Given the description of an element on the screen output the (x, y) to click on. 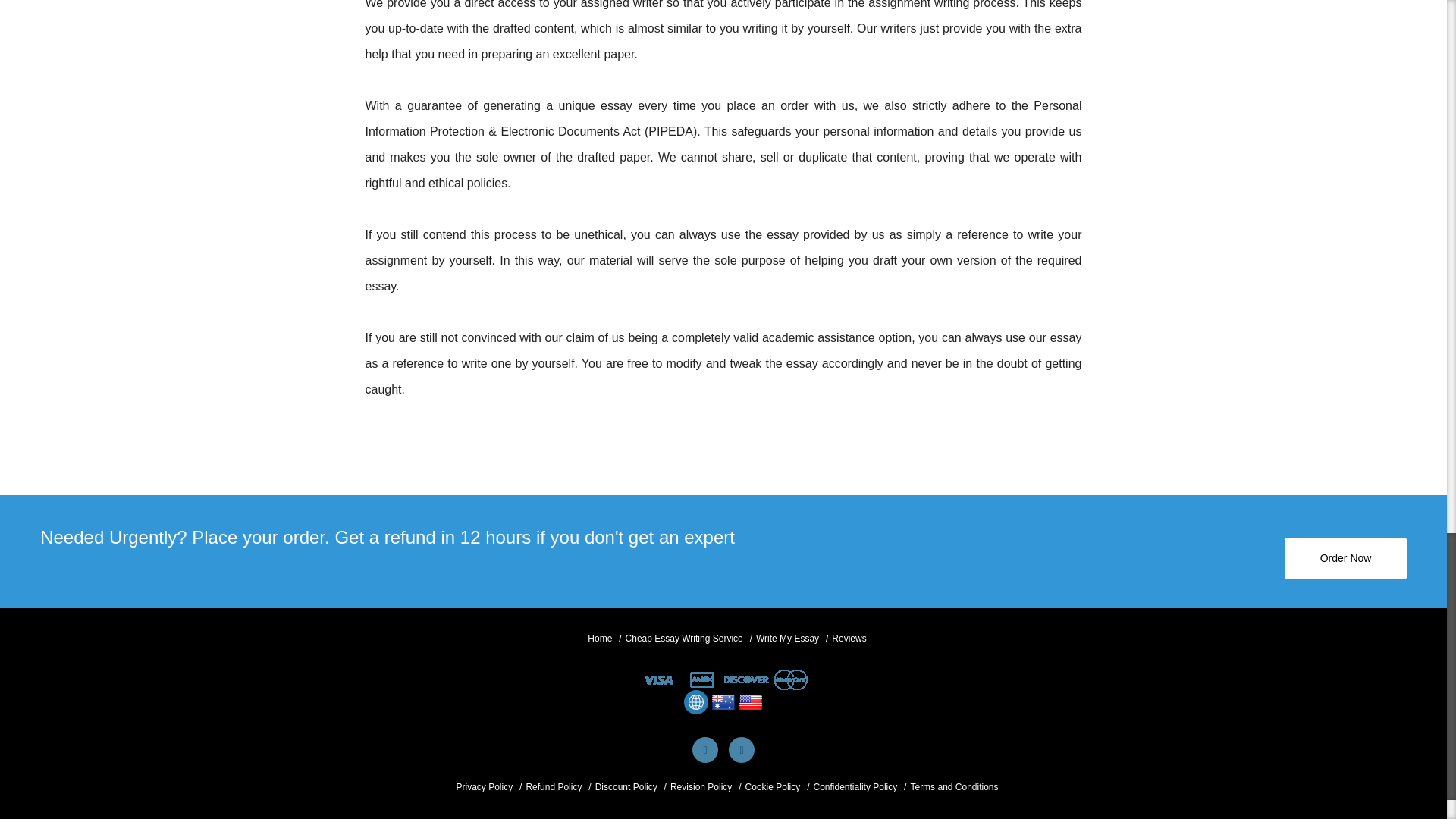
Discount Policy (626, 787)
Write My Essay (786, 639)
Cheap Essay Writing Service (684, 639)
Revision Policy (700, 787)
Order Now (1345, 558)
Cookie Policy (772, 787)
Home (599, 639)
Refund Policy (552, 787)
Confidentiality Policy (854, 787)
Privacy Policy (483, 787)
